Given the description of an element on the screen output the (x, y) to click on. 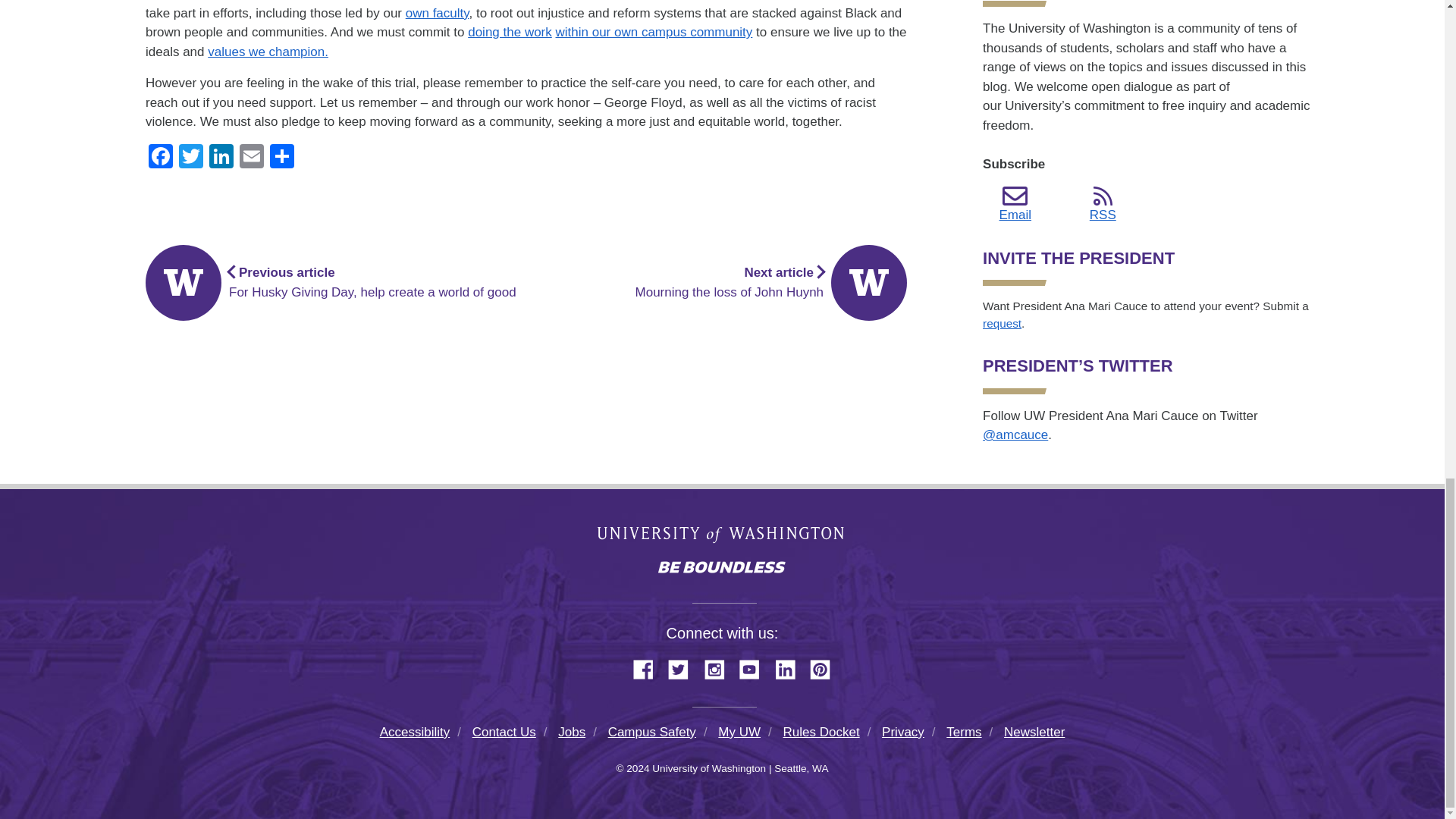
Email (250, 157)
Facebook (160, 157)
Twitter (191, 157)
LinkedIn (220, 157)
